Given the description of an element on the screen output the (x, y) to click on. 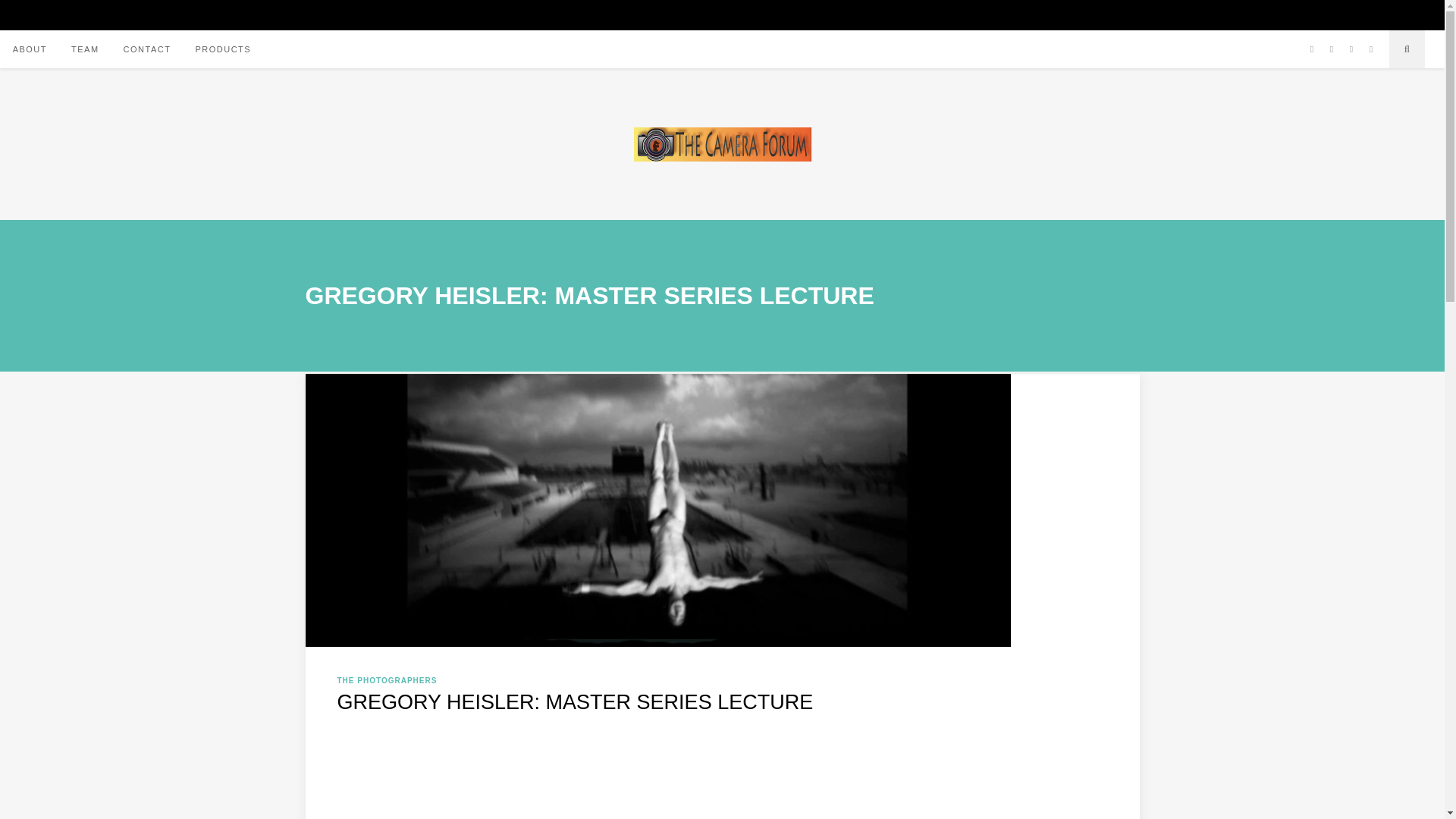
TEAM (85, 48)
THE PHOTOGRAPHERS (386, 680)
CONTACT (147, 48)
ABOUT (30, 48)
PRODUCTS (223, 48)
